Given the description of an element on the screen output the (x, y) to click on. 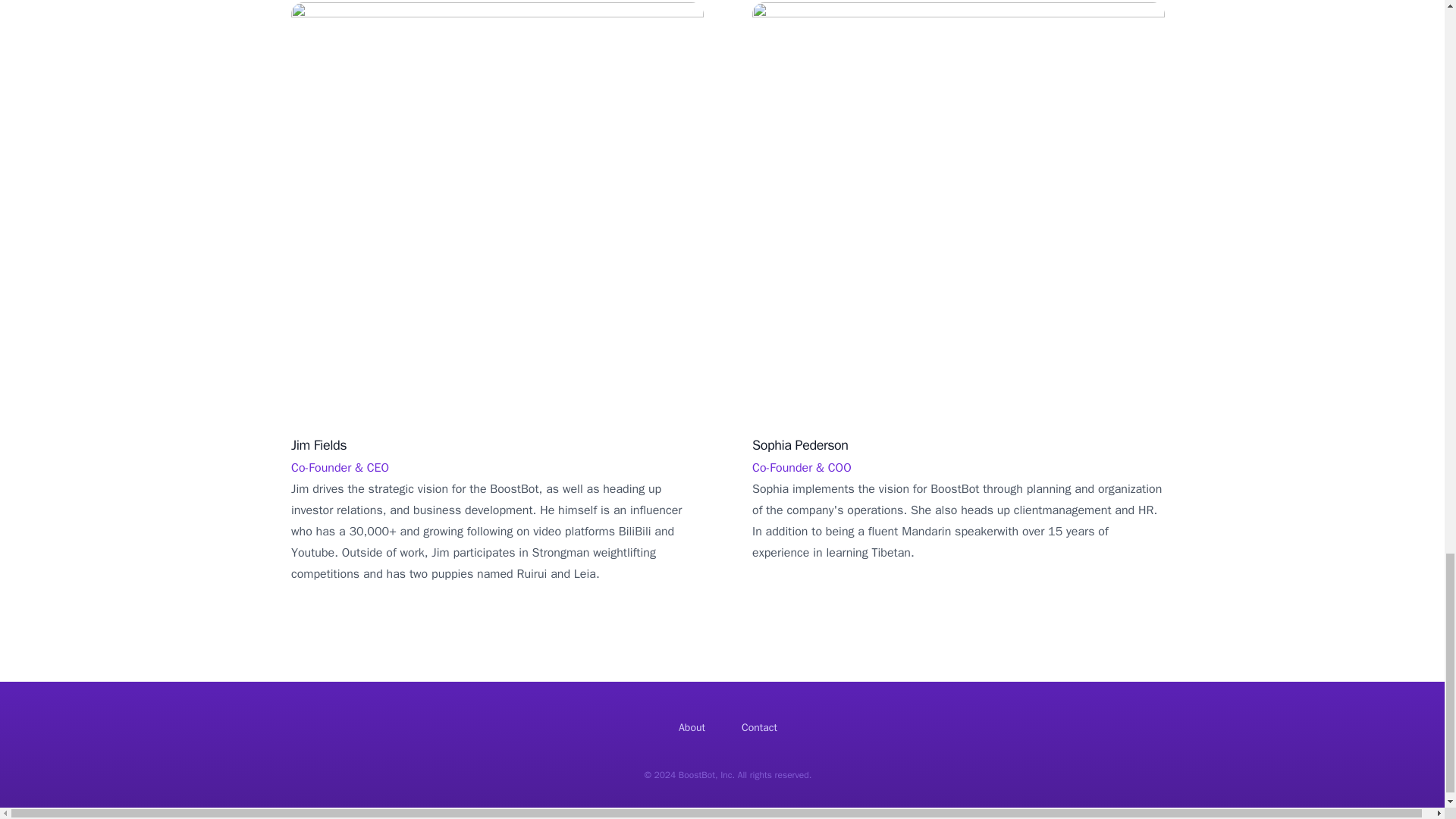
About (691, 727)
Contact (759, 727)
